Given the description of an element on the screen output the (x, y) to click on. 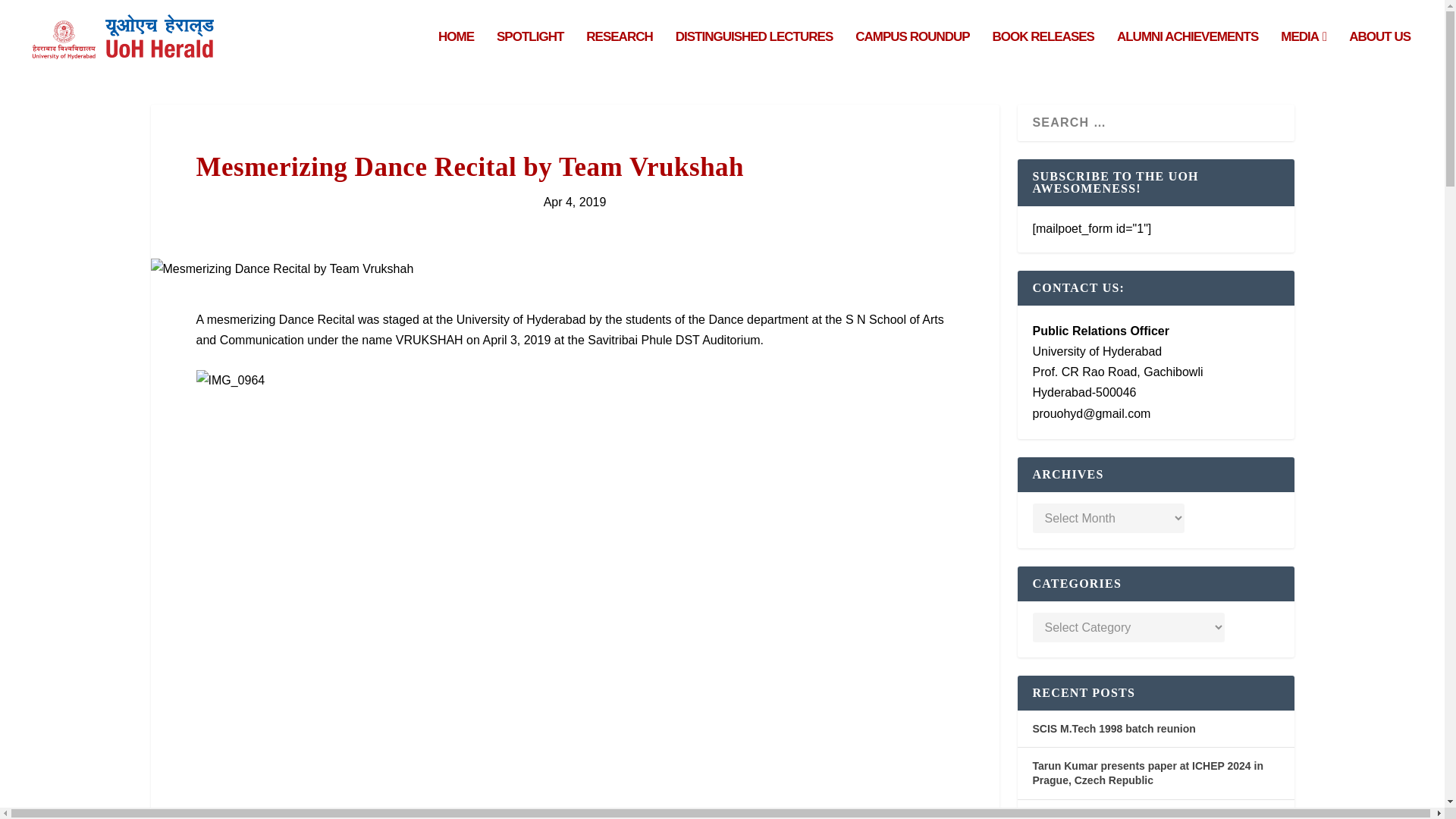
RESEARCH (619, 52)
DISTINGUISHED LECTURES (753, 52)
MEDIA (1303, 52)
SCIS M.Tech 1998 batch reunion (1113, 728)
SPOTLIGHT (529, 52)
ABOUT US (1379, 52)
Search (34, 14)
CAMPUS ROUNDUP (912, 52)
BOOK RELEASES (1043, 52)
